Given the description of an element on the screen output the (x, y) to click on. 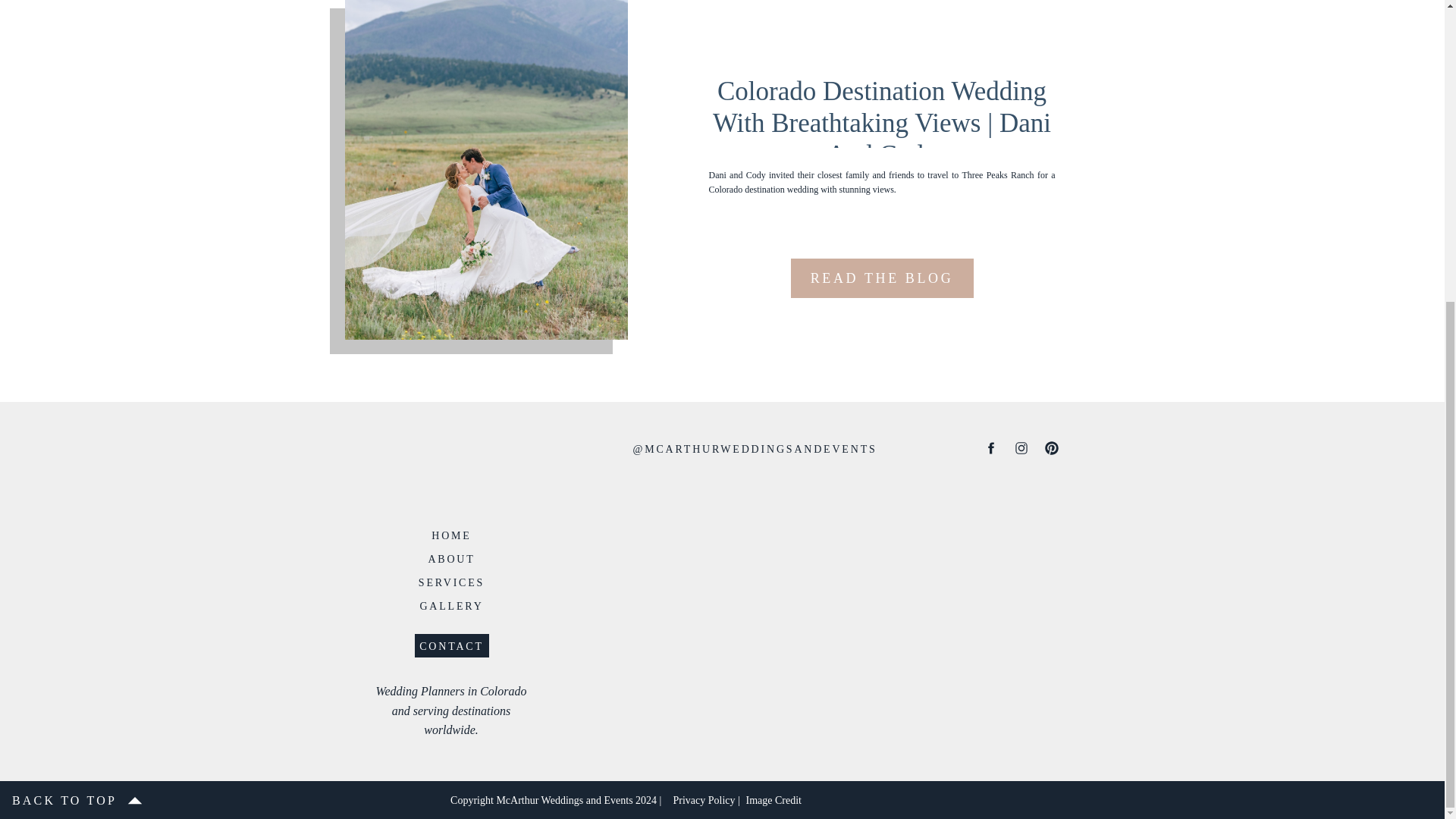
ABOUT (450, 558)
READ THE BLOG (881, 279)
BACK TO TOP (64, 800)
SERVICES (450, 581)
GALLERY (450, 604)
HOME (450, 534)
CONTACT (450, 645)
Image Credit (796, 799)
